Given the description of an element on the screen output the (x, y) to click on. 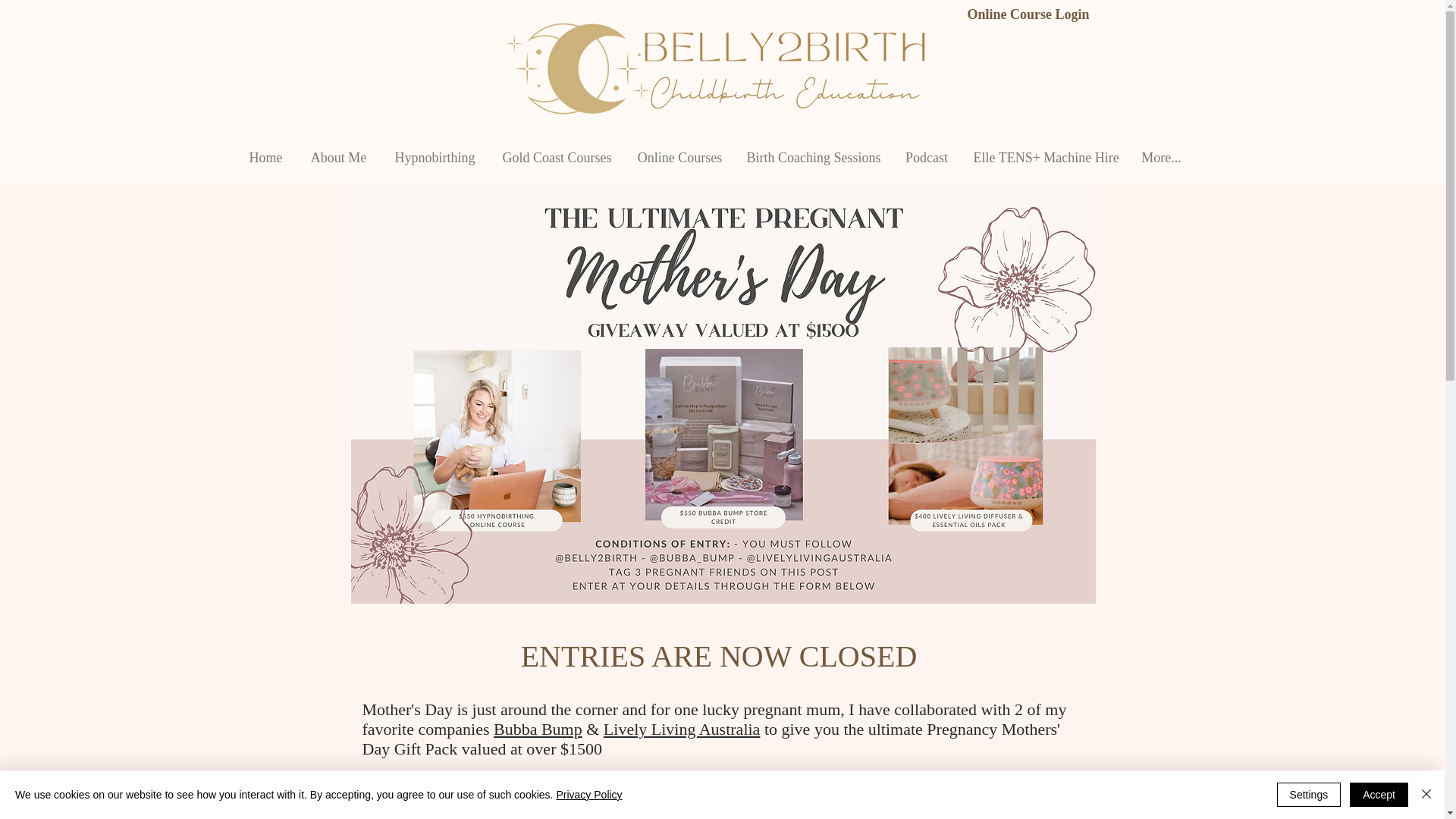
About Me (338, 157)
Birth Coaching Sessions (813, 157)
Hypnobirthing (434, 157)
Home (265, 157)
Lively Living Australia (682, 728)
Bubba Bump (537, 728)
Online Course Login (1028, 14)
Podcast (926, 157)
Online Courses (679, 157)
Gold Coast Courses (556, 157)
